Given the description of an element on the screen output the (x, y) to click on. 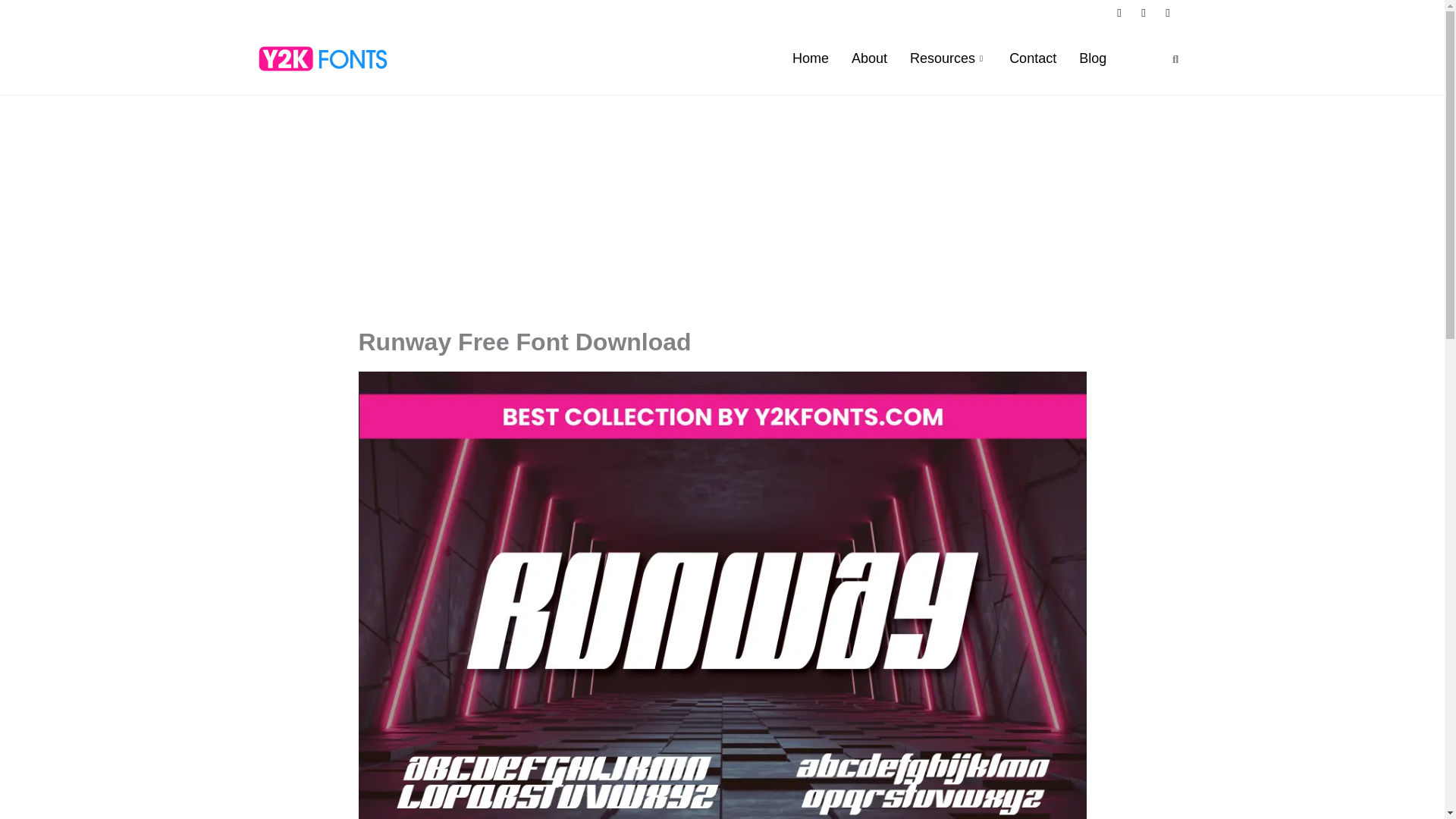
Blog (1092, 58)
About (869, 58)
Contact (1032, 58)
Resources (947, 58)
Home (810, 58)
Search (1170, 58)
